Given the description of an element on the screen output the (x, y) to click on. 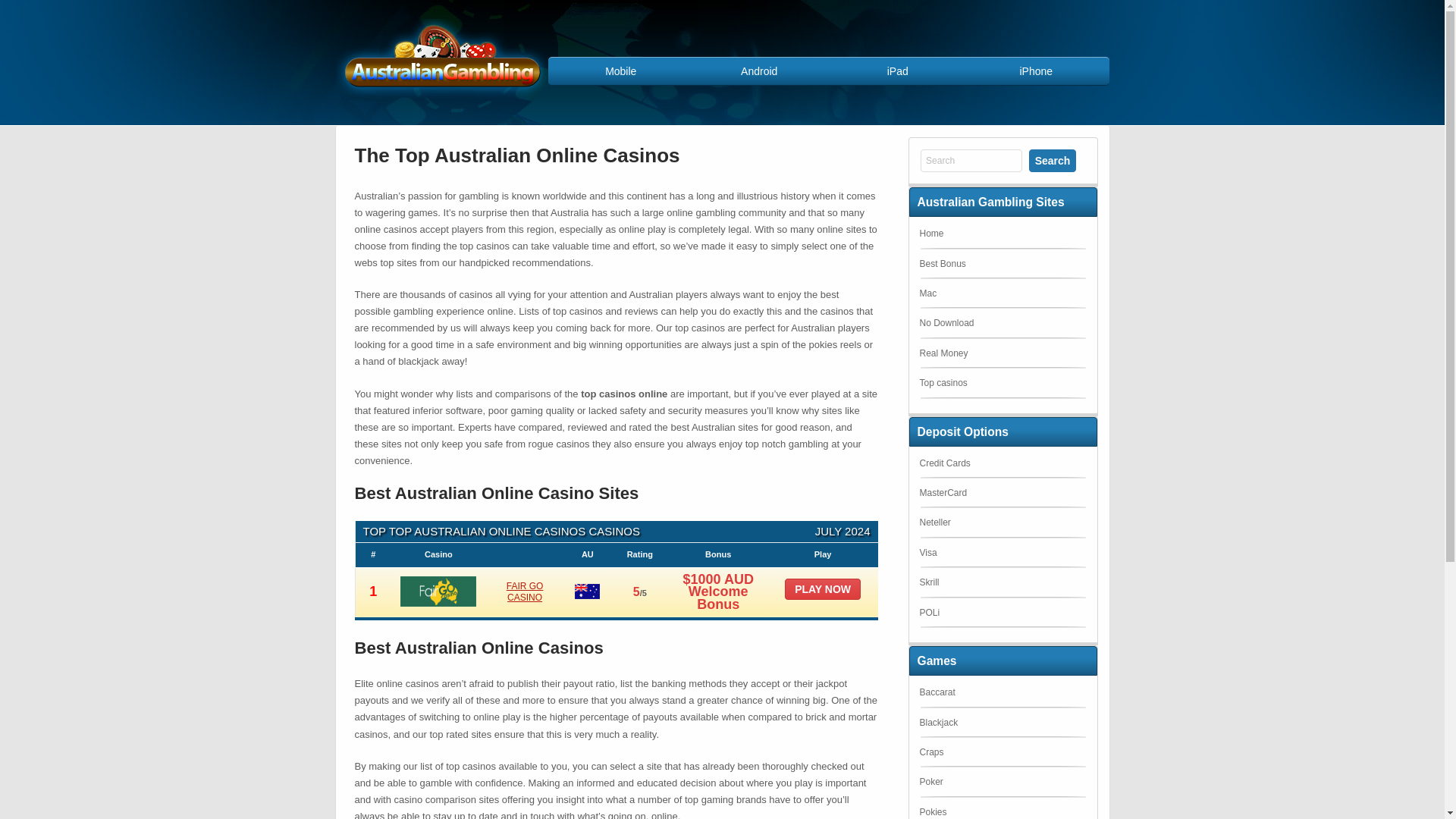
Credit Cards (943, 462)
Online Gambling (441, 99)
Search (1052, 160)
Visa (927, 552)
Search (971, 160)
Search (1052, 160)
POLi (928, 612)
Poker (930, 781)
iPad (897, 71)
Best Bonus (941, 263)
Mac (927, 293)
Android (759, 71)
iPhone (1035, 71)
Top casinos (942, 382)
Neteller (934, 521)
